Given the description of an element on the screen output the (x, y) to click on. 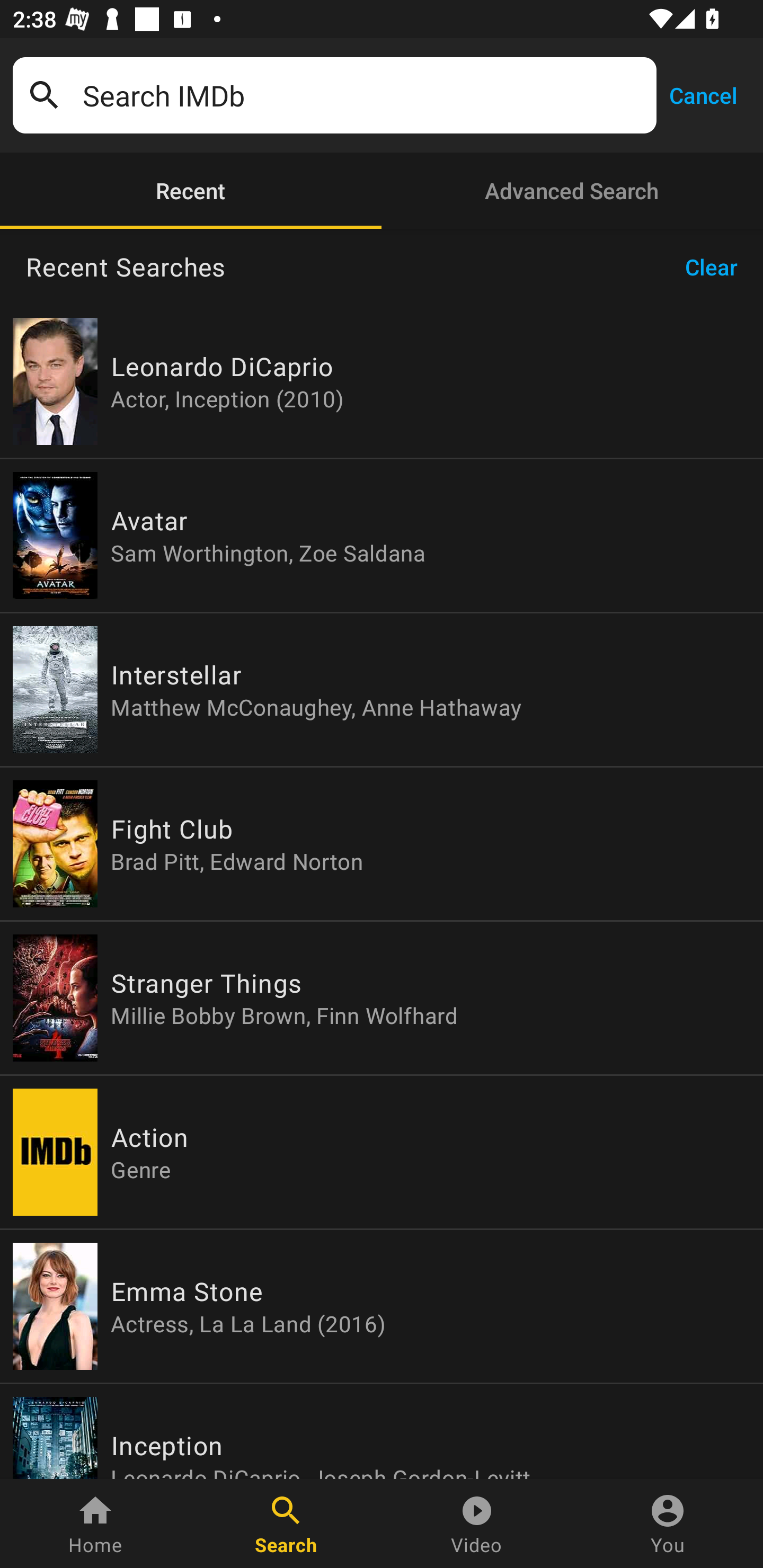
Cancel (703, 94)
Search IMDb (363, 95)
Advanced Search (572, 190)
Clear (717, 266)
Leonardo DiCaprio Actor, Inception (2010) (381, 381)
Avatar Sam Worthington, Zoe Saldana (381, 535)
Interstellar Matthew McConaughey, Anne Hathaway (381, 689)
Fight Club Brad Pitt, Edward Norton (381, 844)
Stranger Things Millie Bobby Brown, Finn Wolfhard (381, 997)
Action Genre (381, 1151)
Emma Stone Actress, La La Land (2016) (381, 1305)
Inception Leonardo DiCaprio, Joseph Gordon-Levitt (381, 1431)
Home (95, 1523)
Video (476, 1523)
You (667, 1523)
